Given the description of an element on the screen output the (x, y) to click on. 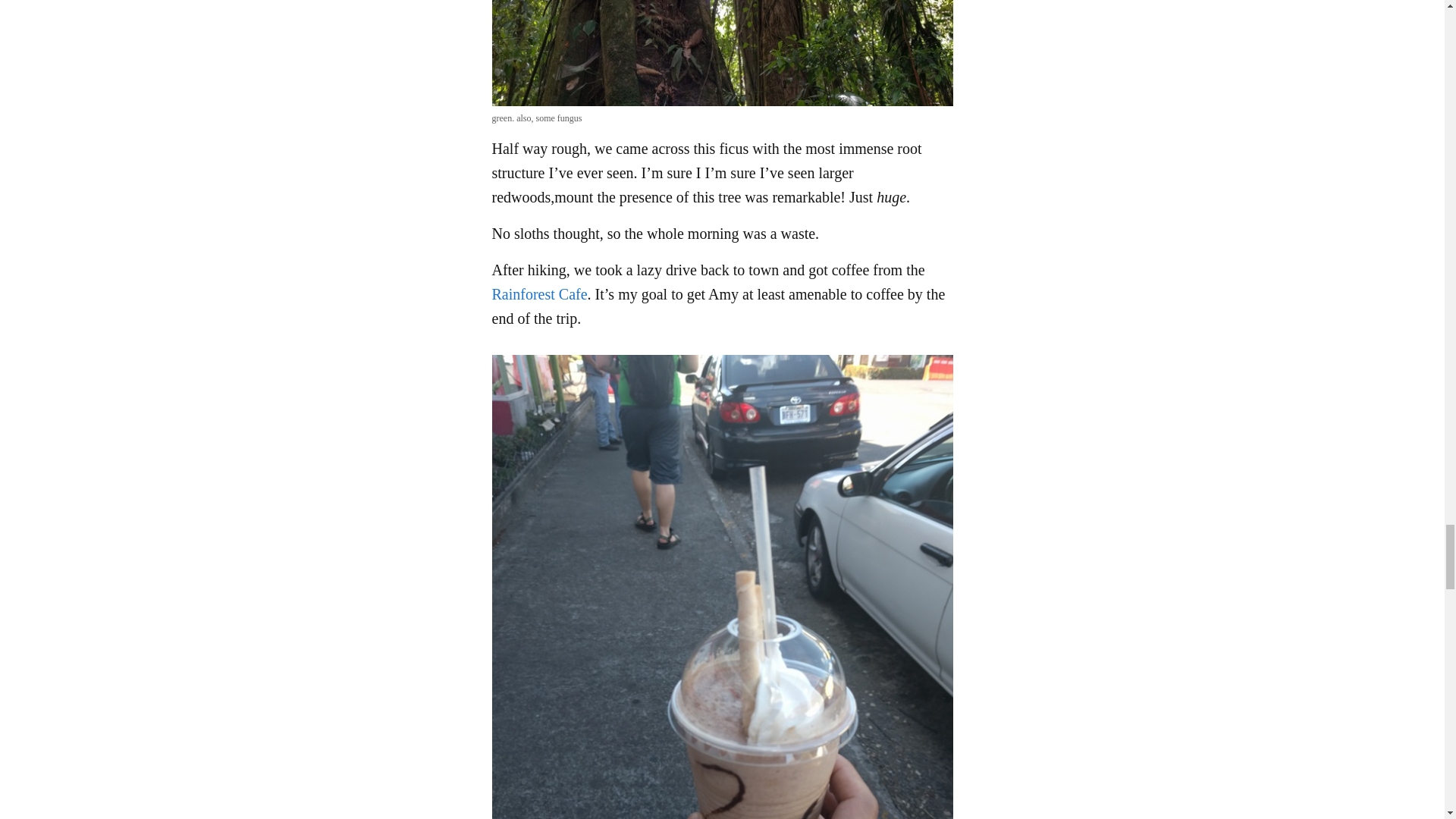
Rainforest Cafe (539, 293)
